Given the description of an element on the screen output the (x, y) to click on. 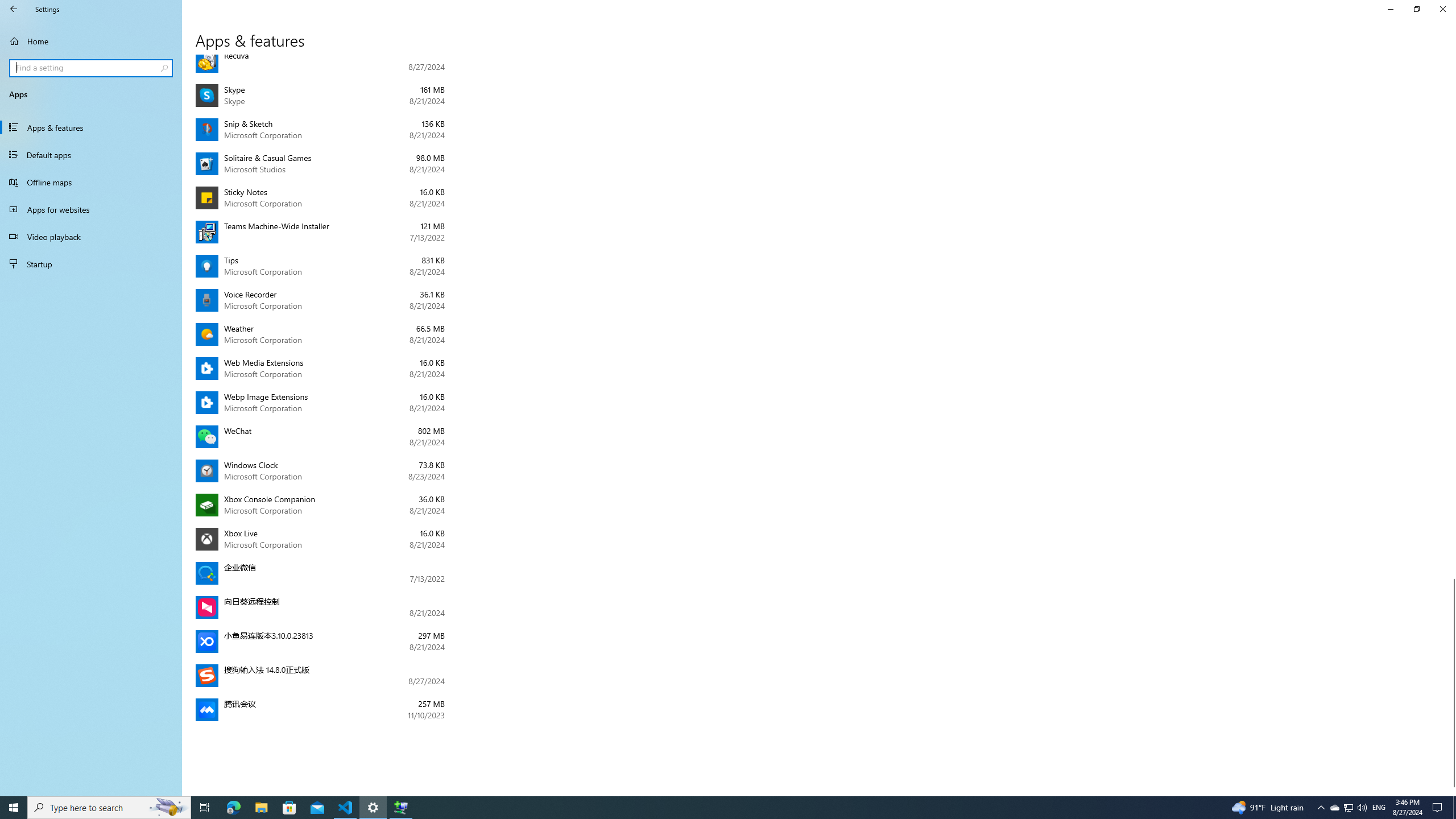
Close Settings (1442, 9)
Settings - 1 running window (373, 807)
Q2790: 100% (1361, 807)
Apps & features (91, 126)
Visual Studio Code - 1 running window (345, 807)
File Explorer (261, 807)
Vertical Small Increase (1451, 791)
Tray Input Indicator - English (United States) (1378, 807)
Video playback (91, 236)
